Given the description of an element on the screen output the (x, y) to click on. 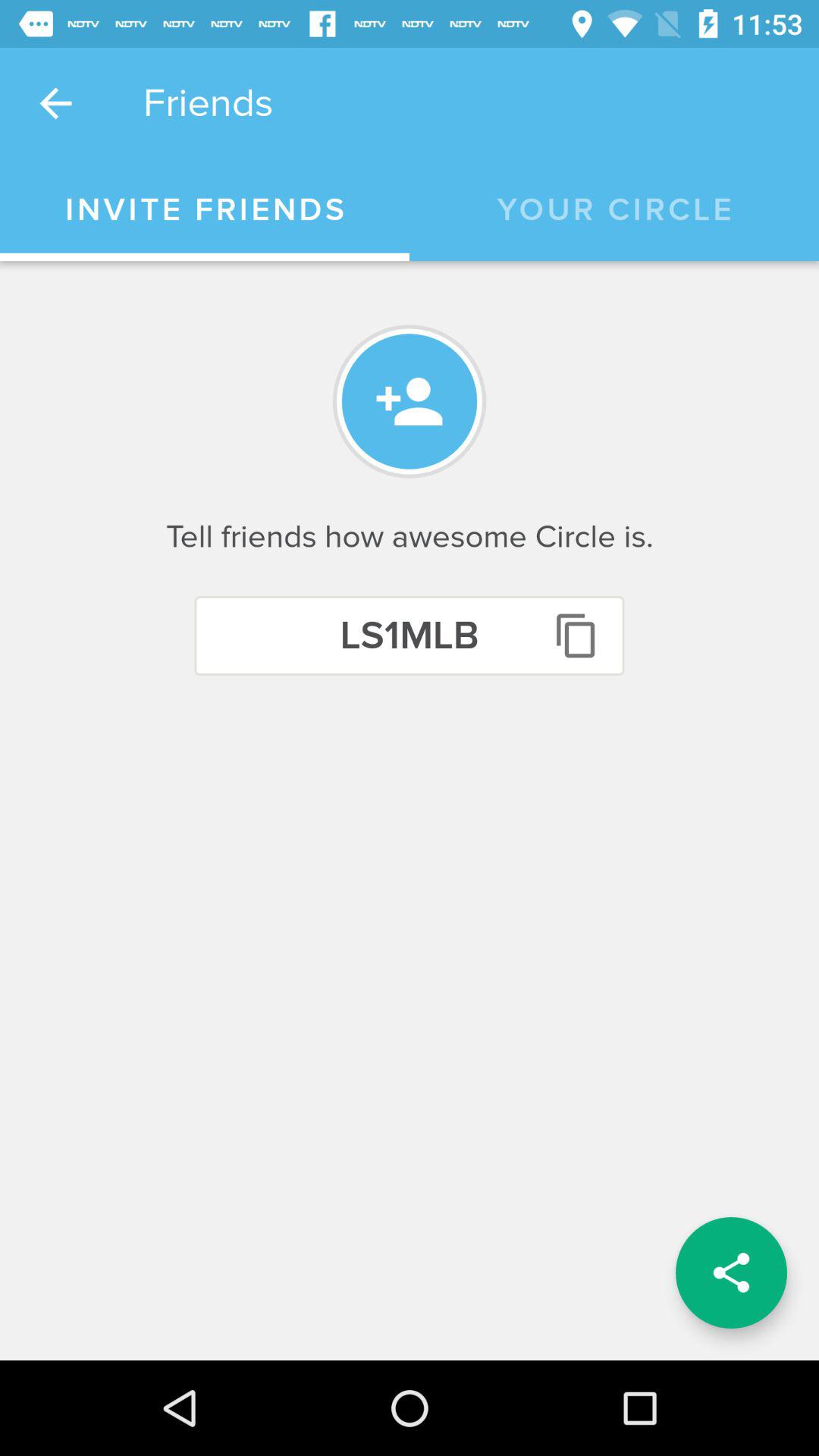
press item below the tell friends how (731, 1272)
